Given the description of an element on the screen output the (x, y) to click on. 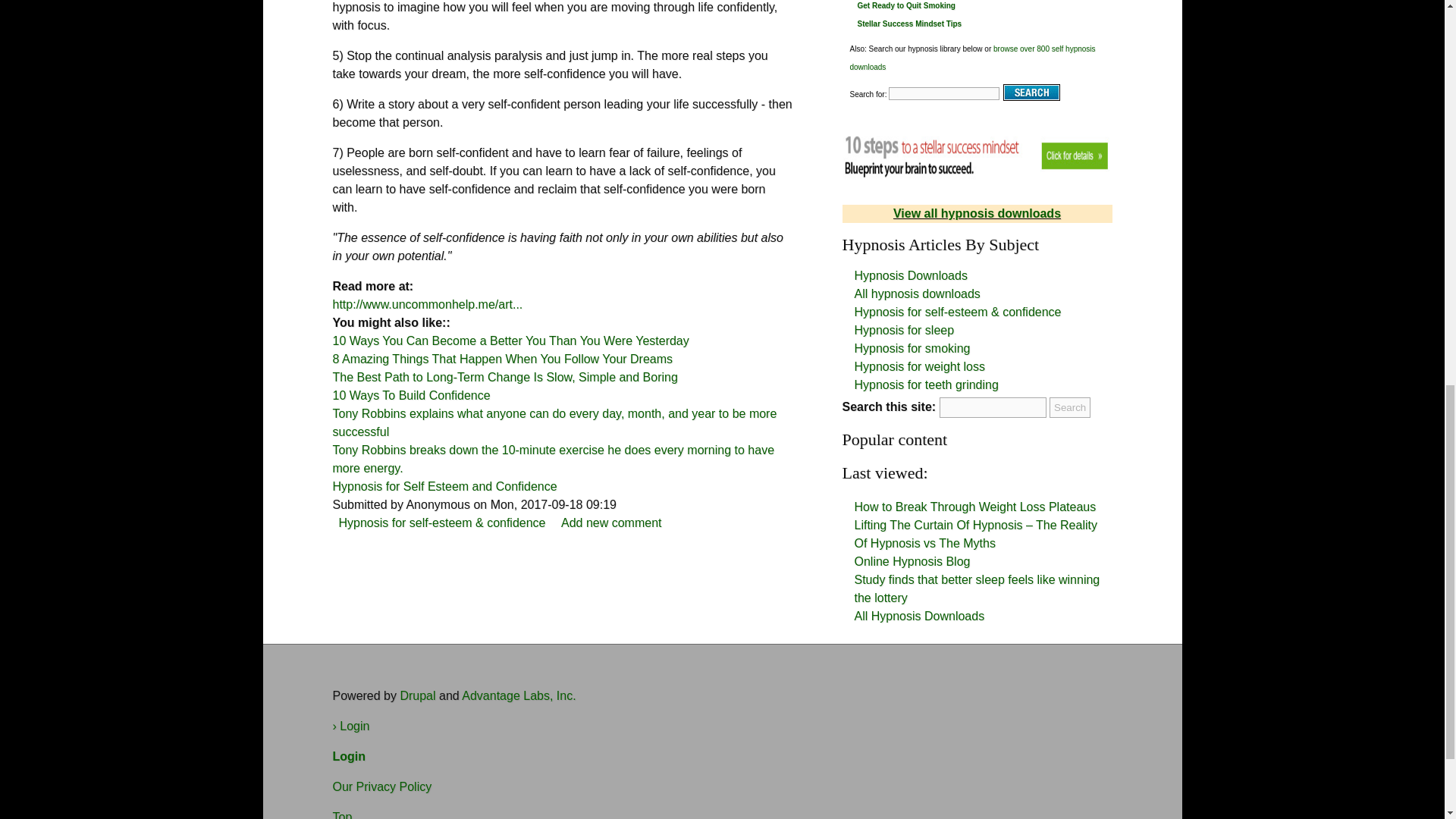
Share your thoughts and opinions related to this posting. (611, 522)
Stellar Success Mindset Tips (908, 23)
View all hypnosis downloads (977, 213)
Add new comment (611, 522)
10 steps to success (977, 152)
Get Ready to Quit Smoking  (906, 5)
10 Ways To Build Confidence (410, 395)
Get Ready to Quit Smoking (906, 5)
Hypnosis for Self Esteem and Confidence (443, 486)
10 Ways You Can Become a Better You Than You Were Yesterday (509, 340)
All hypnosis downloads (916, 293)
The Best Path to Long-Term Change Is Slow, Simple and Boring (504, 377)
Hypnosis Downloads (909, 275)
browse over 800 self hypnosis downloads (971, 58)
